Given the description of an element on the screen output the (x, y) to click on. 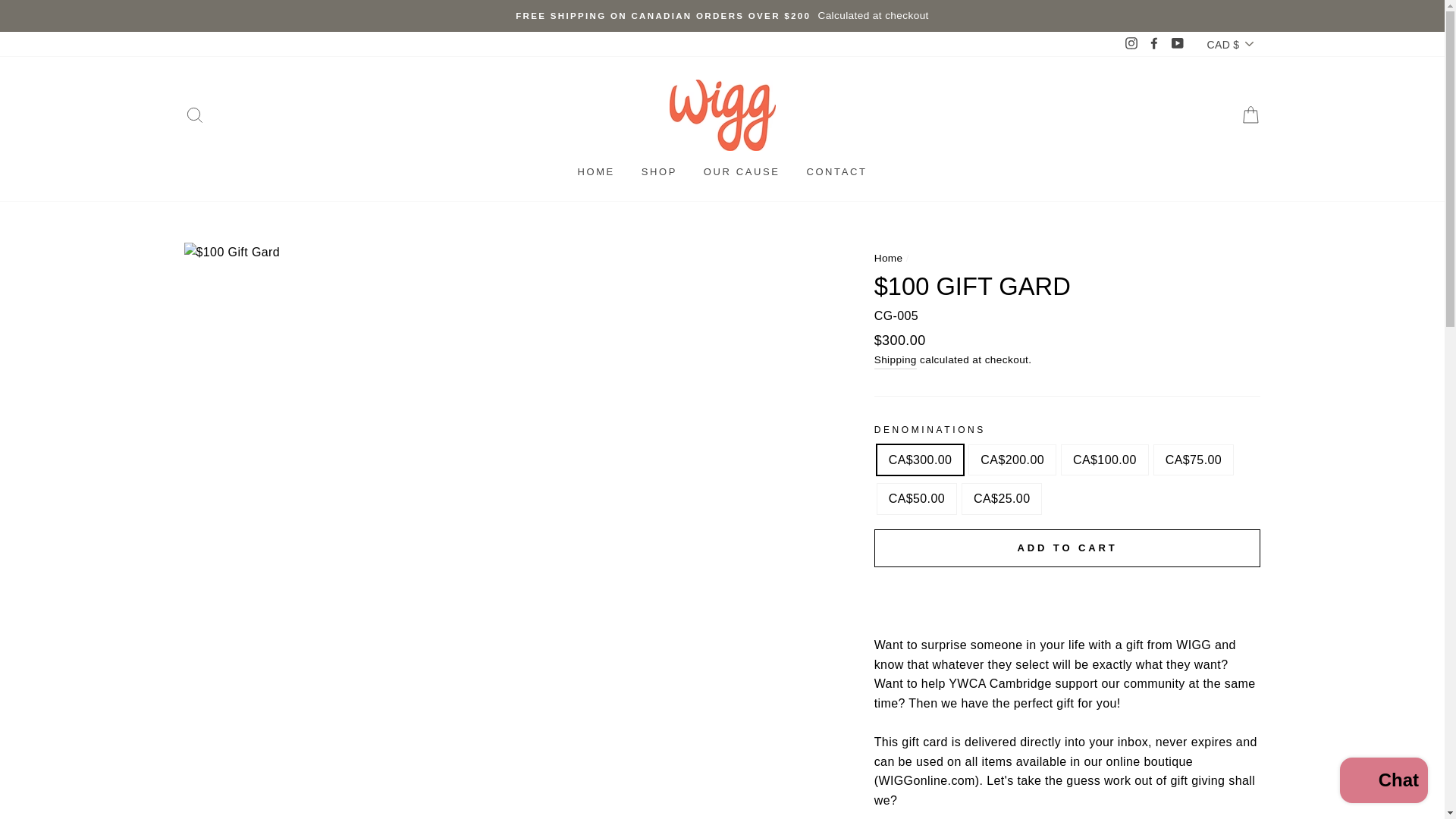
Shopify online store chat (1383, 781)
Back to the frontpage (888, 257)
